Given the description of an element on the screen output the (x, y) to click on. 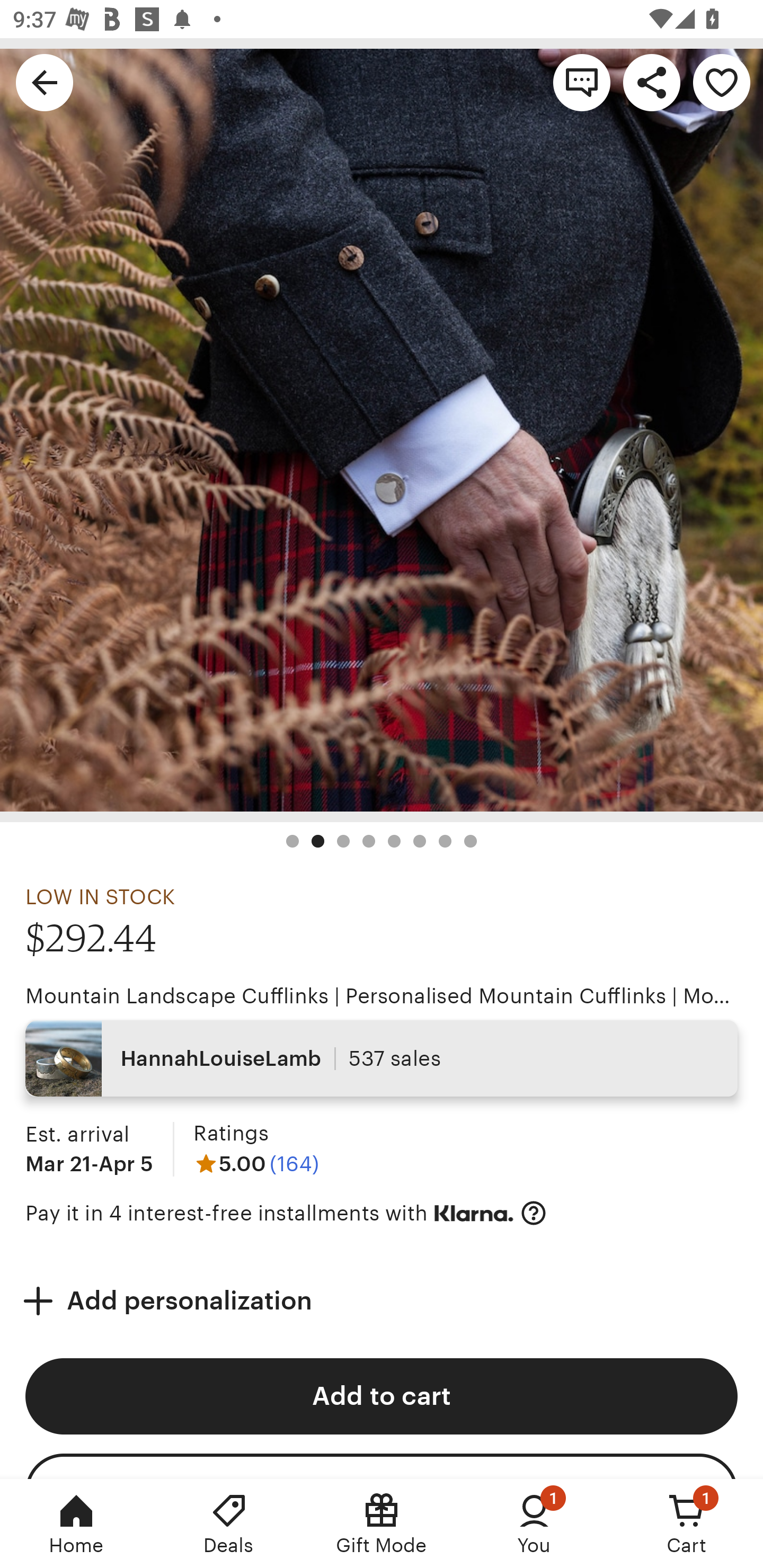
Navigate up (44, 81)
Contact shop (581, 81)
Share (651, 81)
HannahLouiseLamb 537 sales (381, 1058)
Ratings (230, 1133)
5.00 (164) (256, 1163)
Add personalization Add personalization Required (381, 1300)
Add to cart (381, 1395)
Deals (228, 1523)
Gift Mode (381, 1523)
You, 1 new notification You (533, 1523)
Cart, 1 new notification Cart (686, 1523)
